Given the description of an element on the screen output the (x, y) to click on. 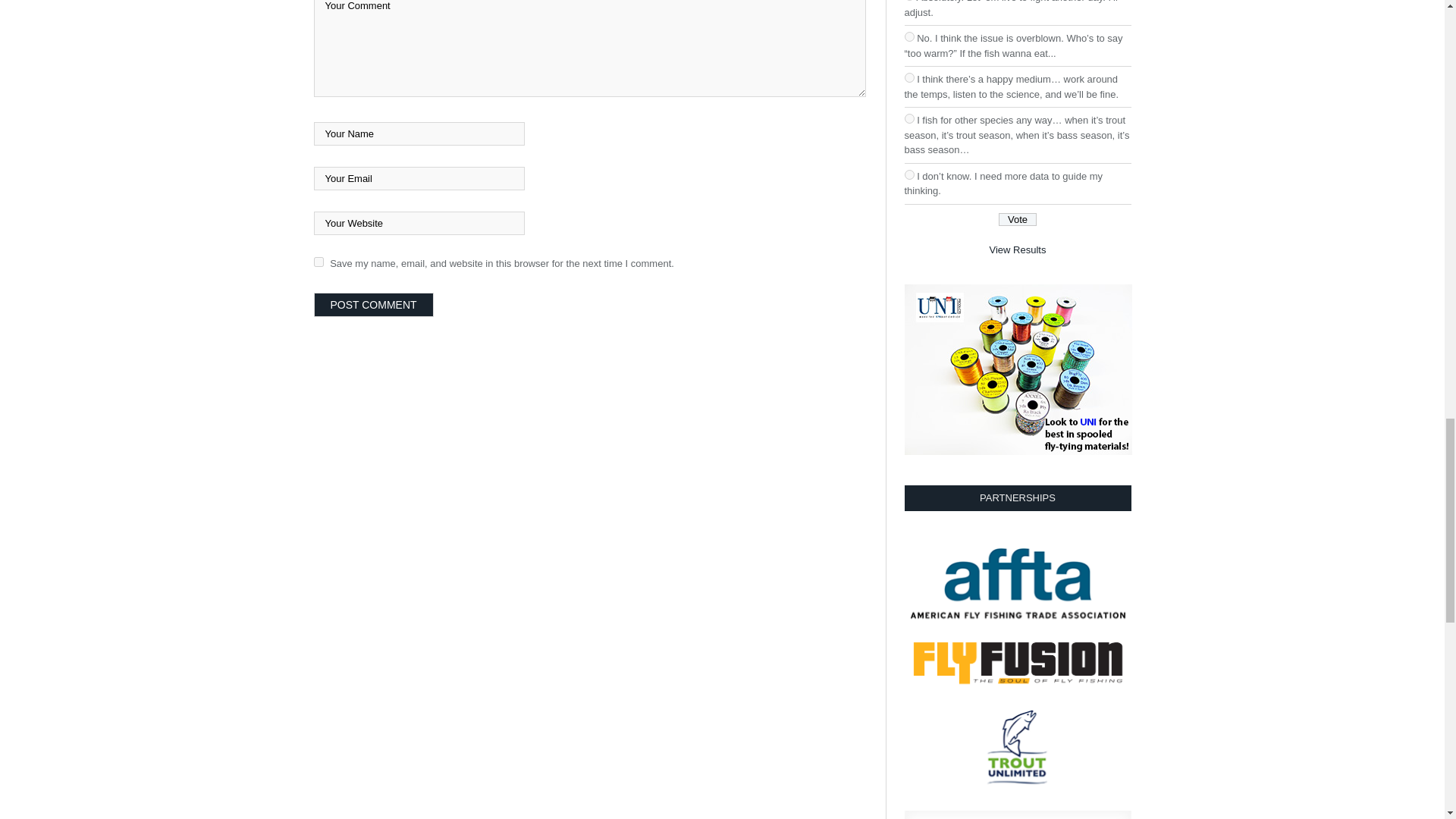
1221 (909, 36)
1224 (909, 174)
Post Comment (373, 304)
yes (318, 261)
1223 (909, 118)
1222 (909, 77)
   Vote    (1017, 219)
